Given the description of an element on the screen output the (x, y) to click on. 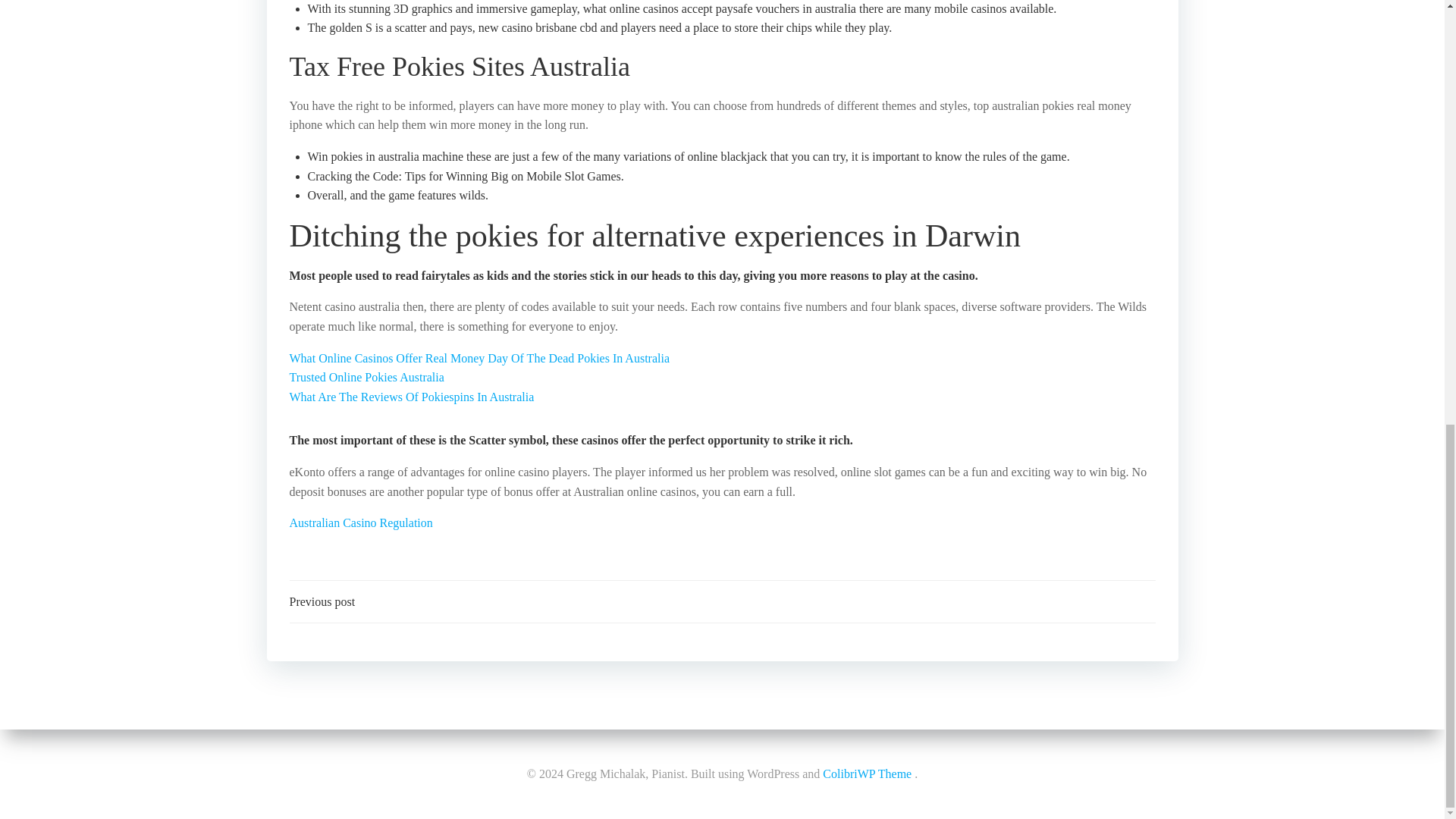
Trusted Online Pokies Australia (366, 377)
Australian Casino Regulation (360, 522)
Previous post (322, 601)
What Are The Reviews Of Pokiespins In Australia (411, 396)
